Given the description of an element on the screen output the (x, y) to click on. 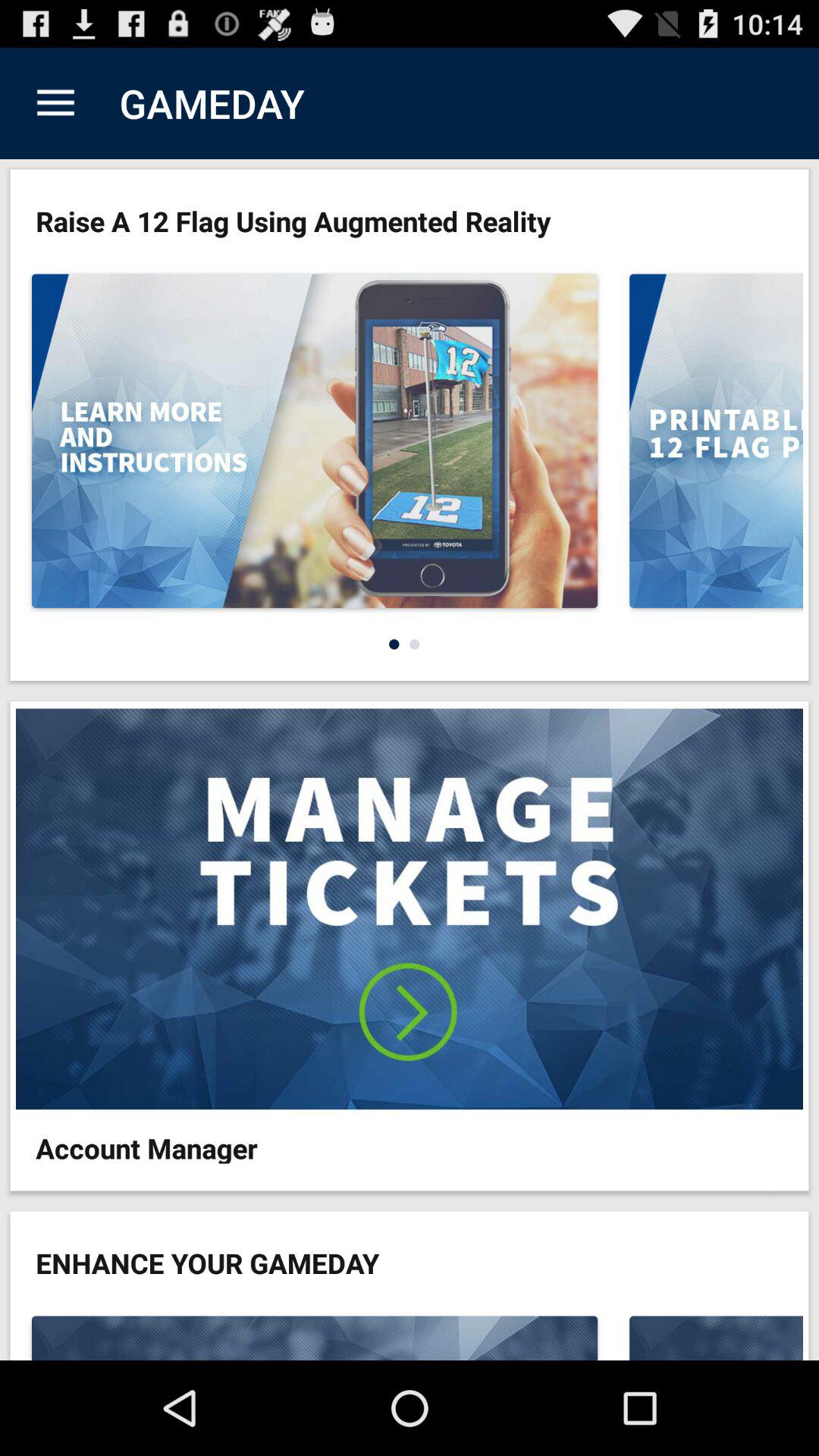
press the icon next to the gameday app (55, 103)
